Given the description of an element on the screen output the (x, y) to click on. 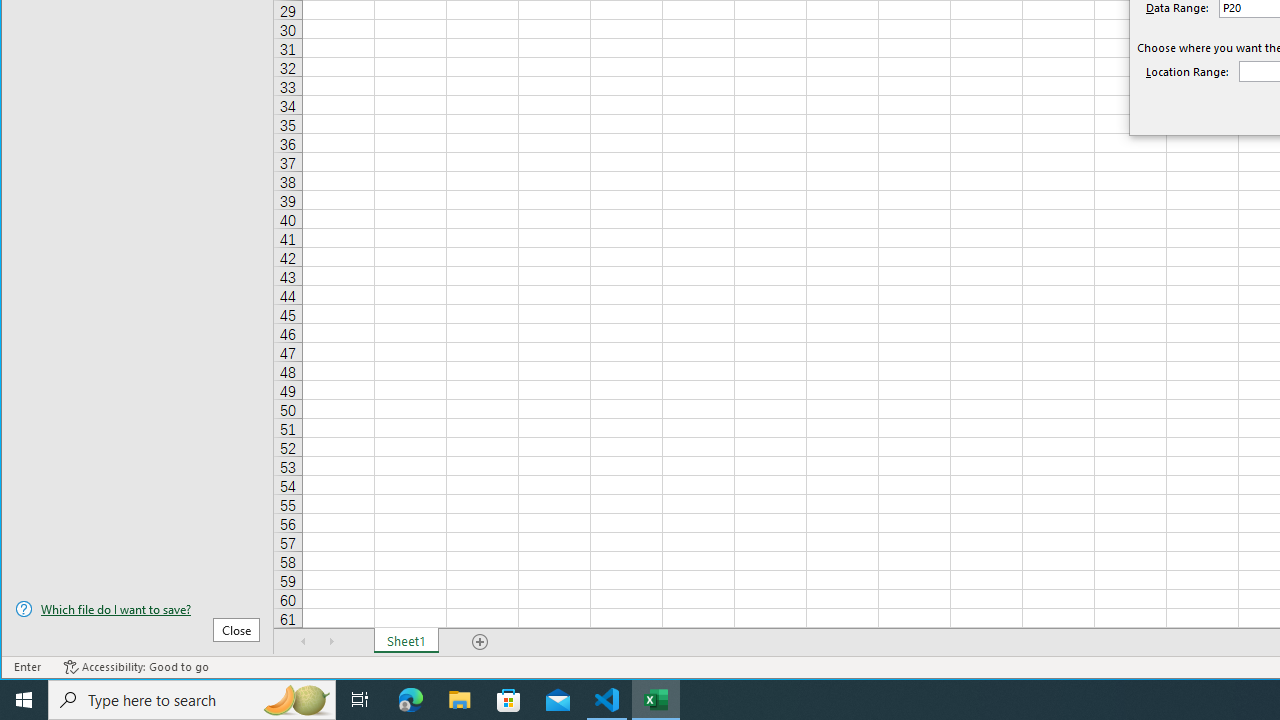
Which file do I want to save? (137, 609)
